Given the description of an element on the screen output the (x, y) to click on. 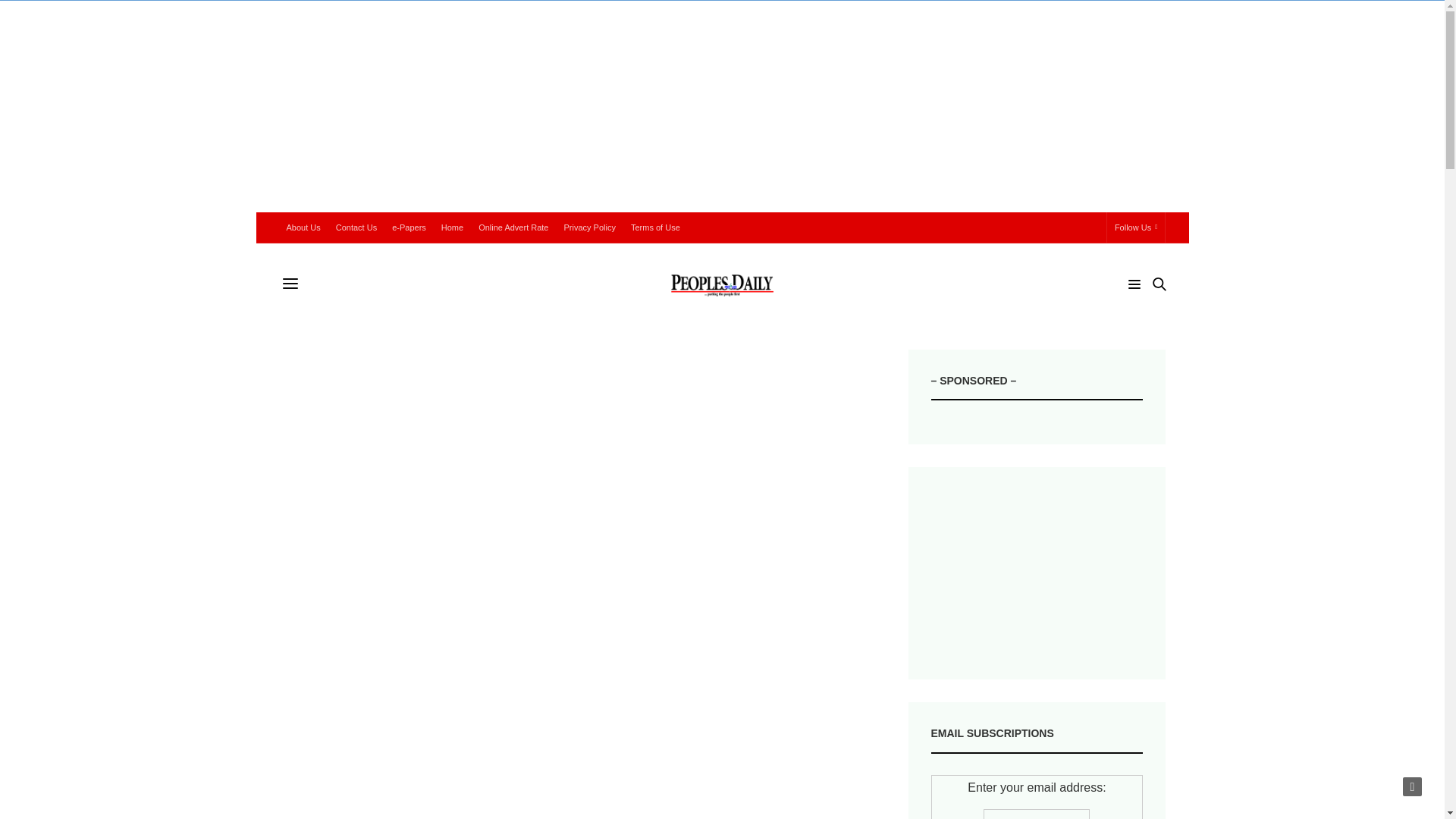
Terms of Use (655, 227)
Search (1137, 312)
About Us (304, 227)
Home (451, 227)
Online Advert Rate (513, 227)
Contact Us (356, 227)
Follow Us (1136, 227)
e-Papers (408, 227)
Privacy Policy (589, 227)
